Given the description of an element on the screen output the (x, y) to click on. 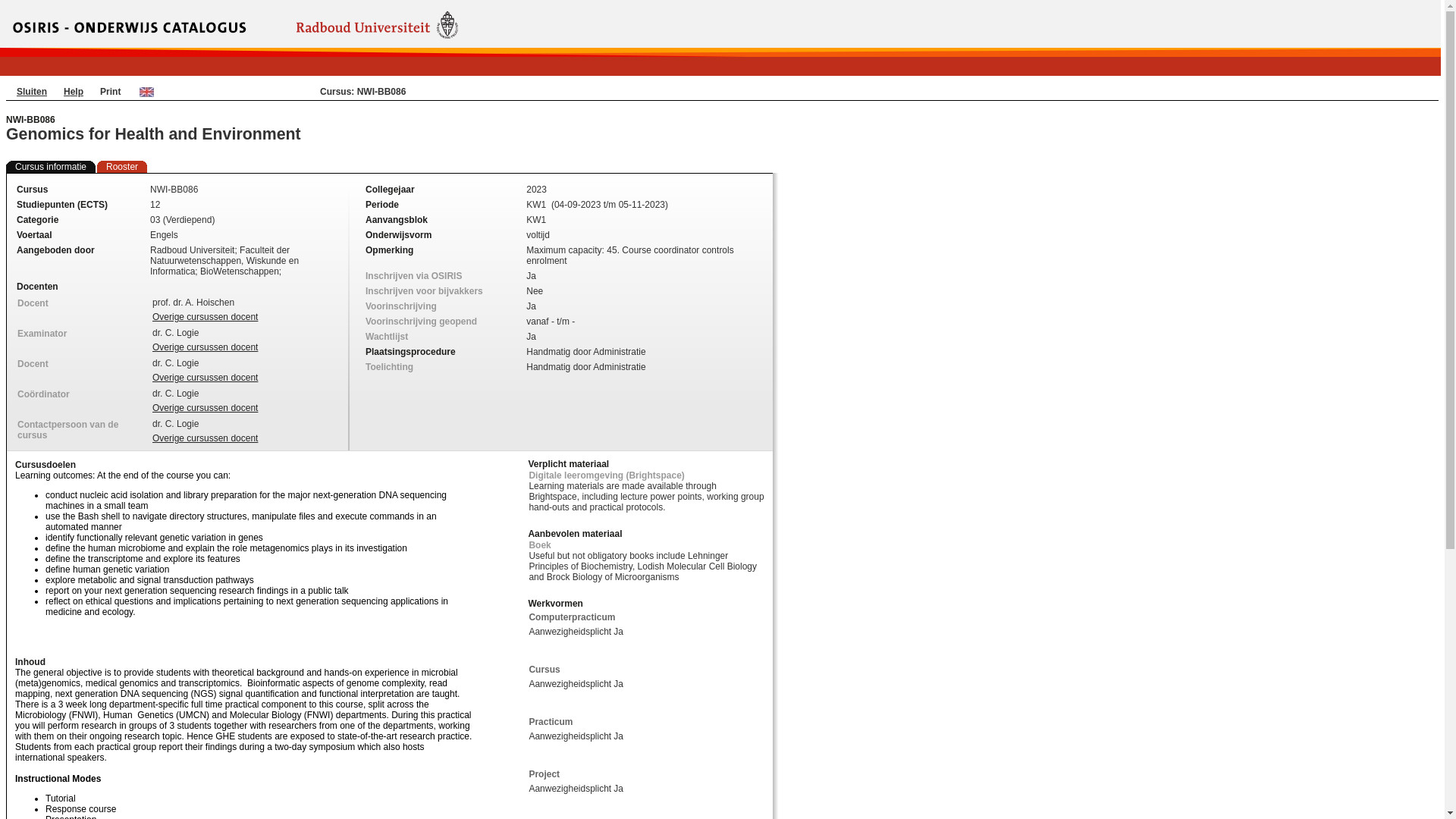
Overige cursussen docent (204, 407)
Overige cursussen docent (204, 347)
Rooster (122, 166)
Print (110, 91)
Overige cursussen docent (204, 377)
Switch to English (146, 91)
Sluiten (31, 91)
Cursus informatie (49, 166)
Overige cursussen docent (204, 317)
Help (73, 91)
Overige cursussen docent (204, 438)
